Given the description of an element on the screen output the (x, y) to click on. 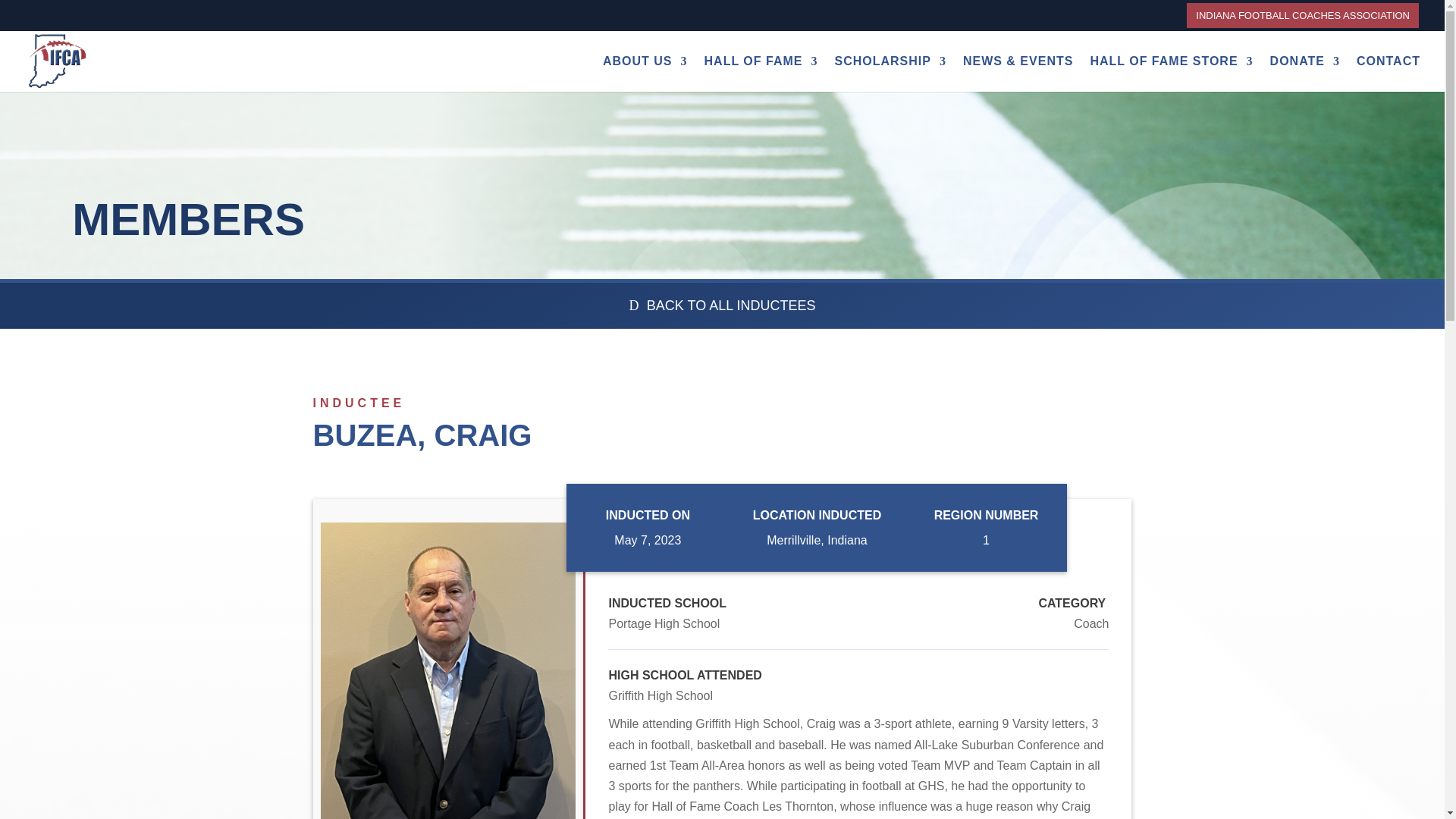
INDIANA FOOTBALL COACHES ASSOCIATION (1302, 15)
CONTACT (1388, 73)
SCHOLARSHIP (889, 73)
HALL OF FAME STORE (1170, 73)
DONATE (1304, 73)
ABOUT US (644, 73)
HALL OF FAME (761, 73)
